Given the description of an element on the screen output the (x, y) to click on. 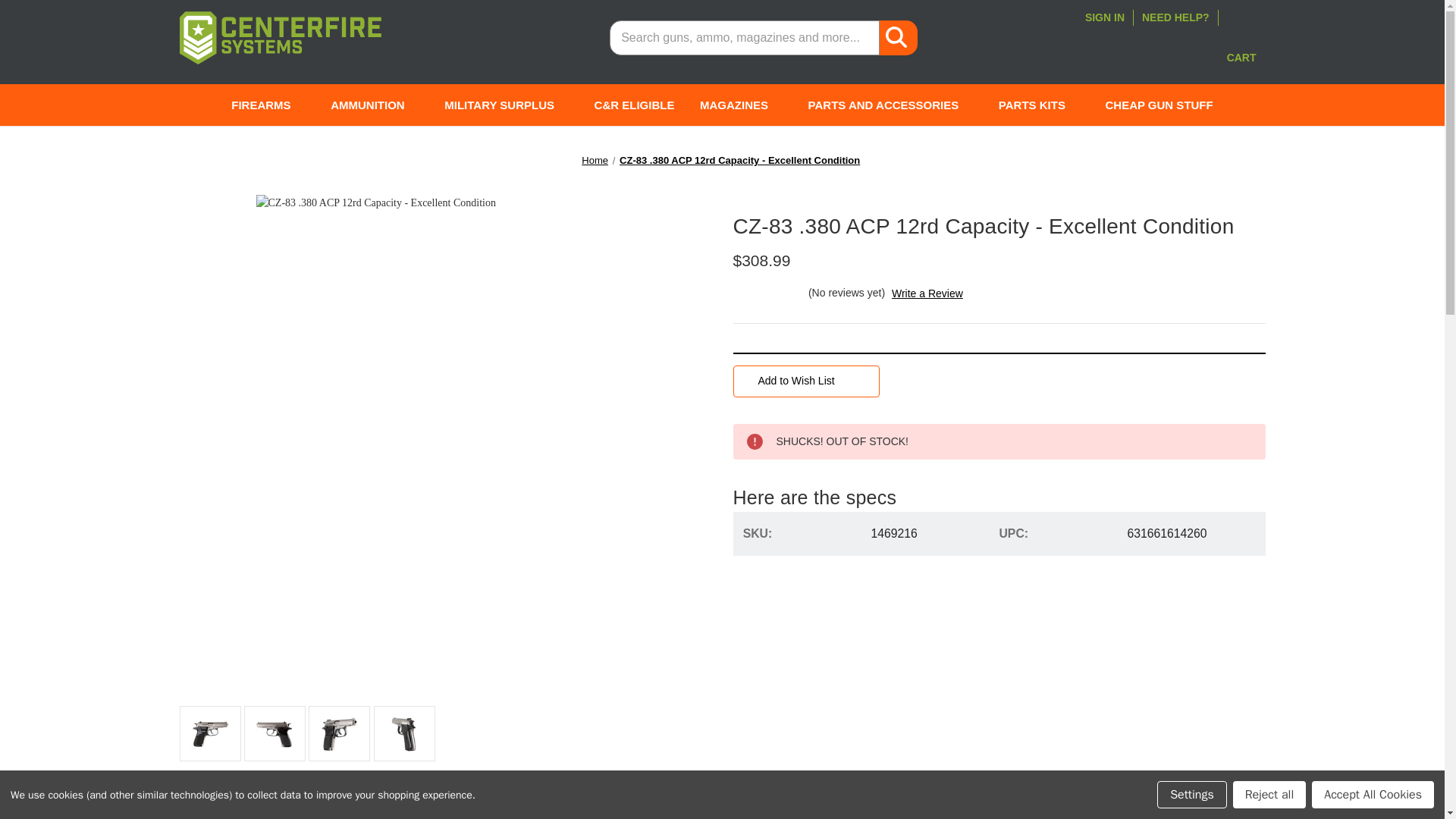
SIGN IN (1104, 17)
FIREARMS (267, 105)
Centerfire Systems (279, 37)
NEED HELP? (1175, 17)
